Given the description of an element on the screen output the (x, y) to click on. 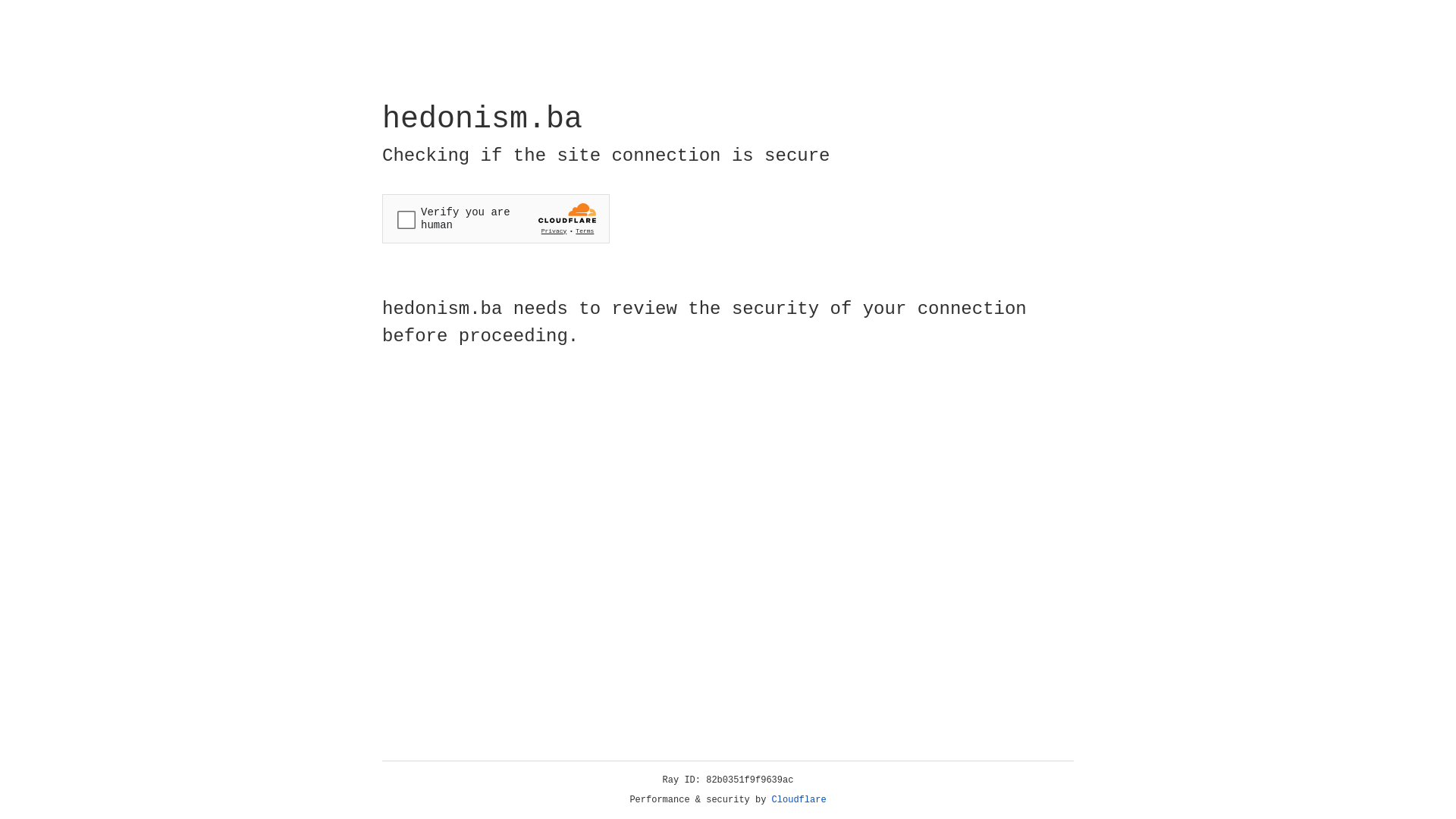
Cloudflare Element type: text (798, 799)
Widget containing a Cloudflare security challenge Element type: hover (495, 218)
